Given the description of an element on the screen output the (x, y) to click on. 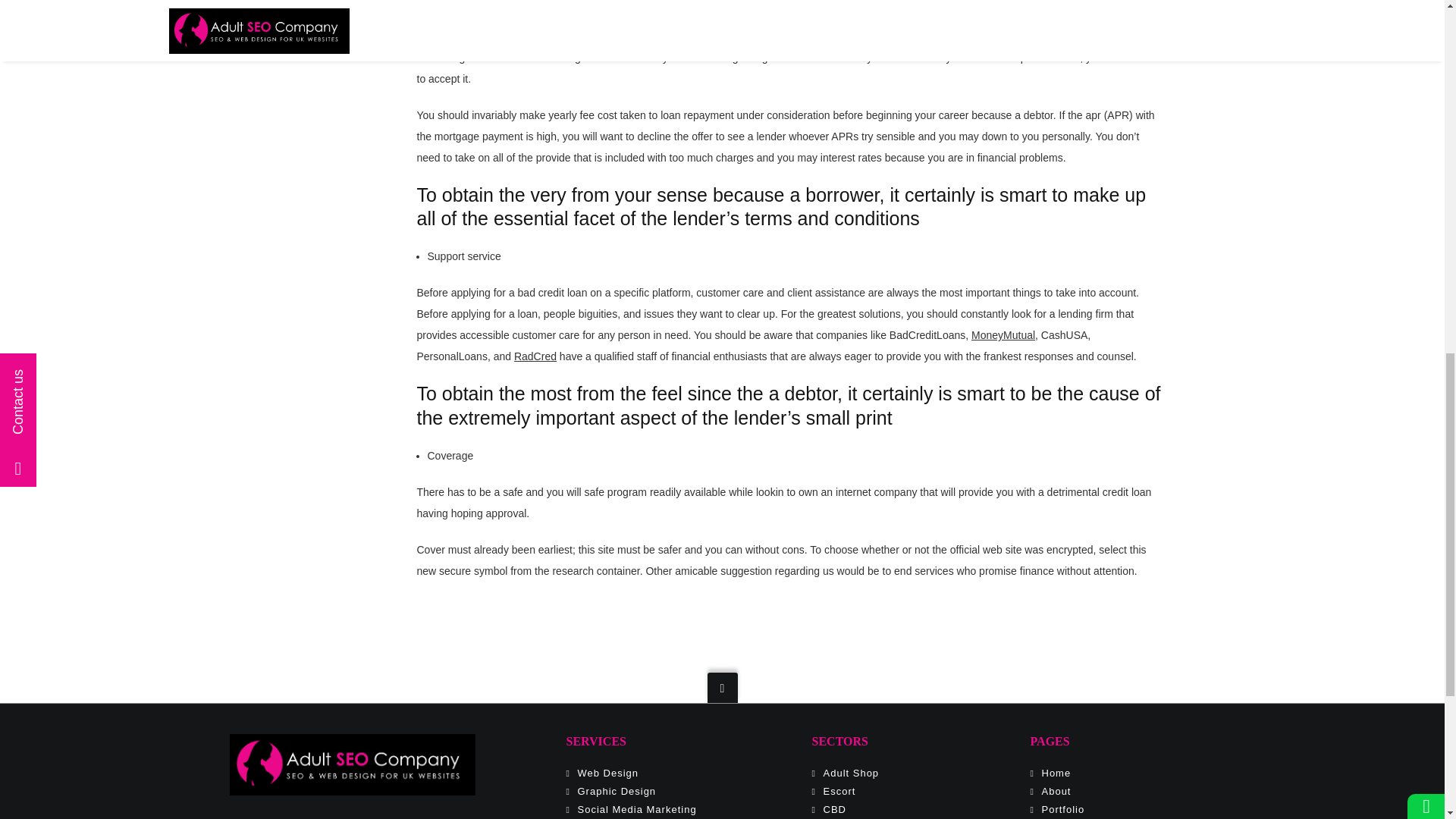
CBD (834, 808)
Web Design (608, 772)
Graphic Design (617, 790)
About (1056, 790)
Home (1056, 772)
Adult Shop (851, 772)
Social Media Marketing (637, 808)
Escort (840, 790)
